Given the description of an element on the screen output the (x, y) to click on. 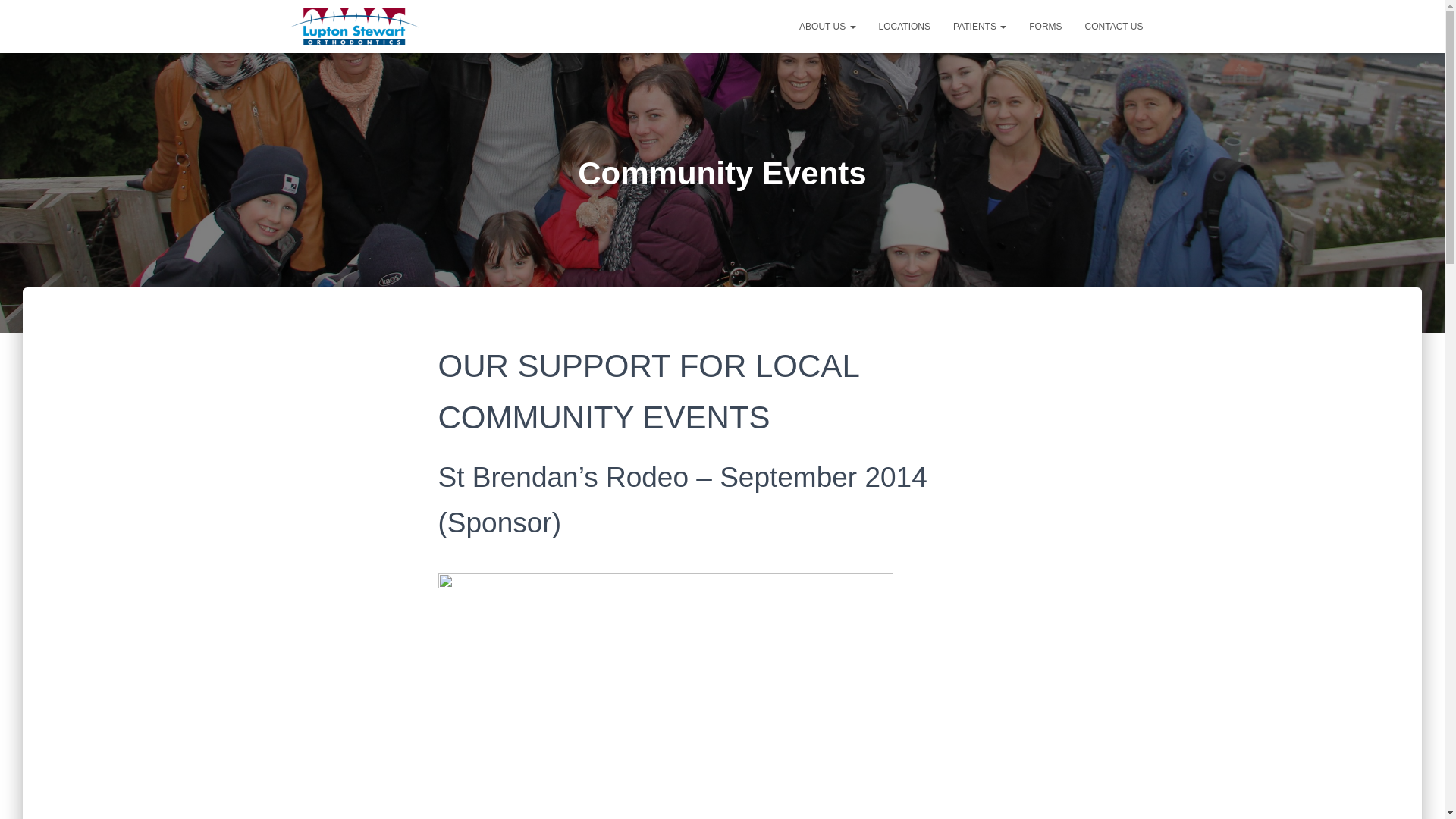
Contact Us (1114, 26)
FORMS (1045, 26)
Locations (904, 26)
Patients (979, 26)
Forms (1045, 26)
About Us (826, 26)
ABOUT US (826, 26)
LOCATIONS (904, 26)
CONTACT US (1114, 26)
PATIENTS (979, 26)
